Given the description of an element on the screen output the (x, y) to click on. 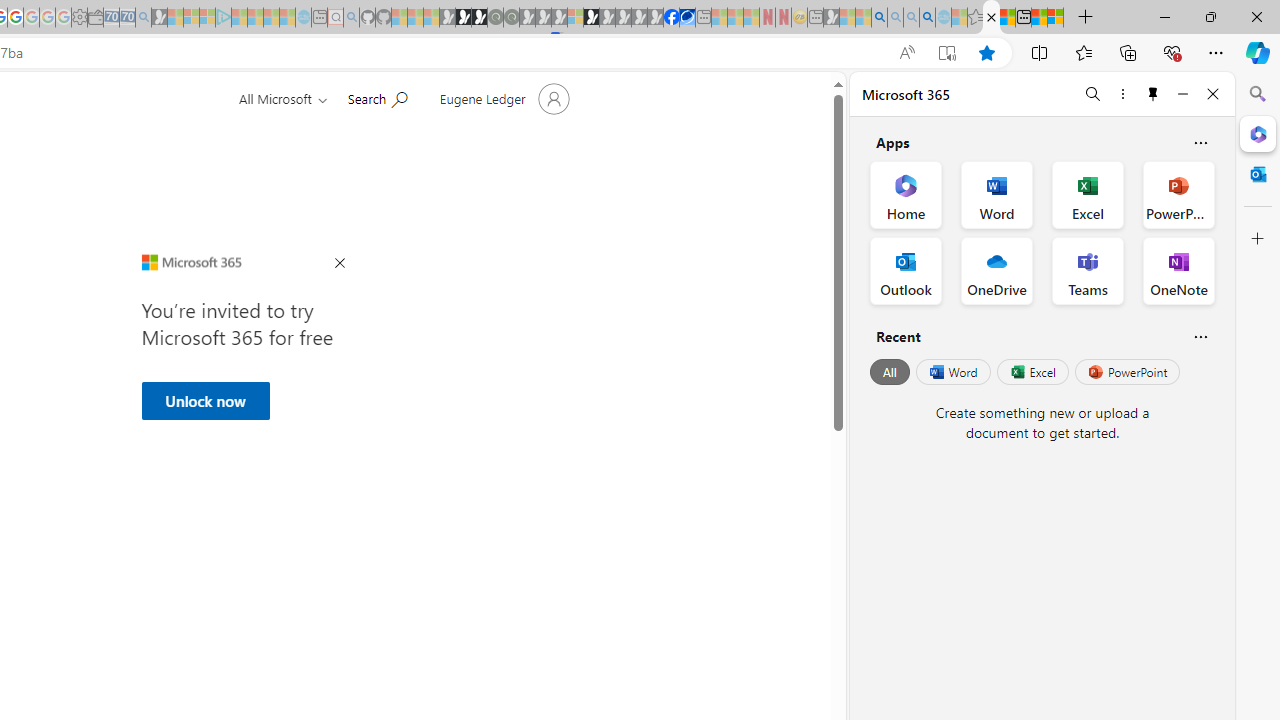
Nordace | Facebook (671, 17)
Excel (1031, 372)
Teams Office App (1087, 270)
Sign in to your account - Sleeping (575, 17)
AirNow.gov (687, 17)
Account manager for Eugene Ledger (502, 98)
Home Office App (906, 194)
